Given the description of an element on the screen output the (x, y) to click on. 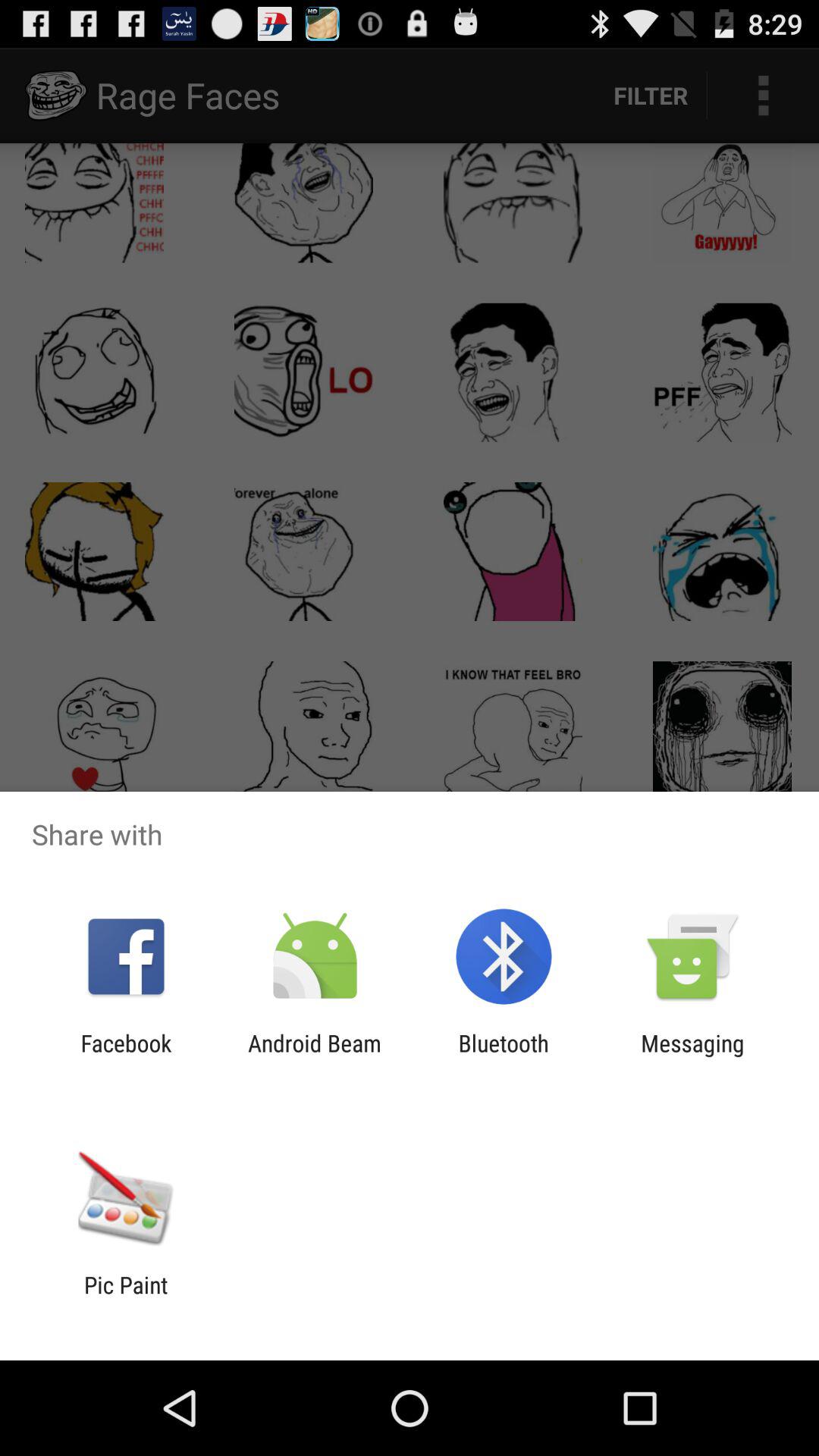
choose the app to the left of the messaging item (503, 1056)
